Given the description of an element on the screen output the (x, y) to click on. 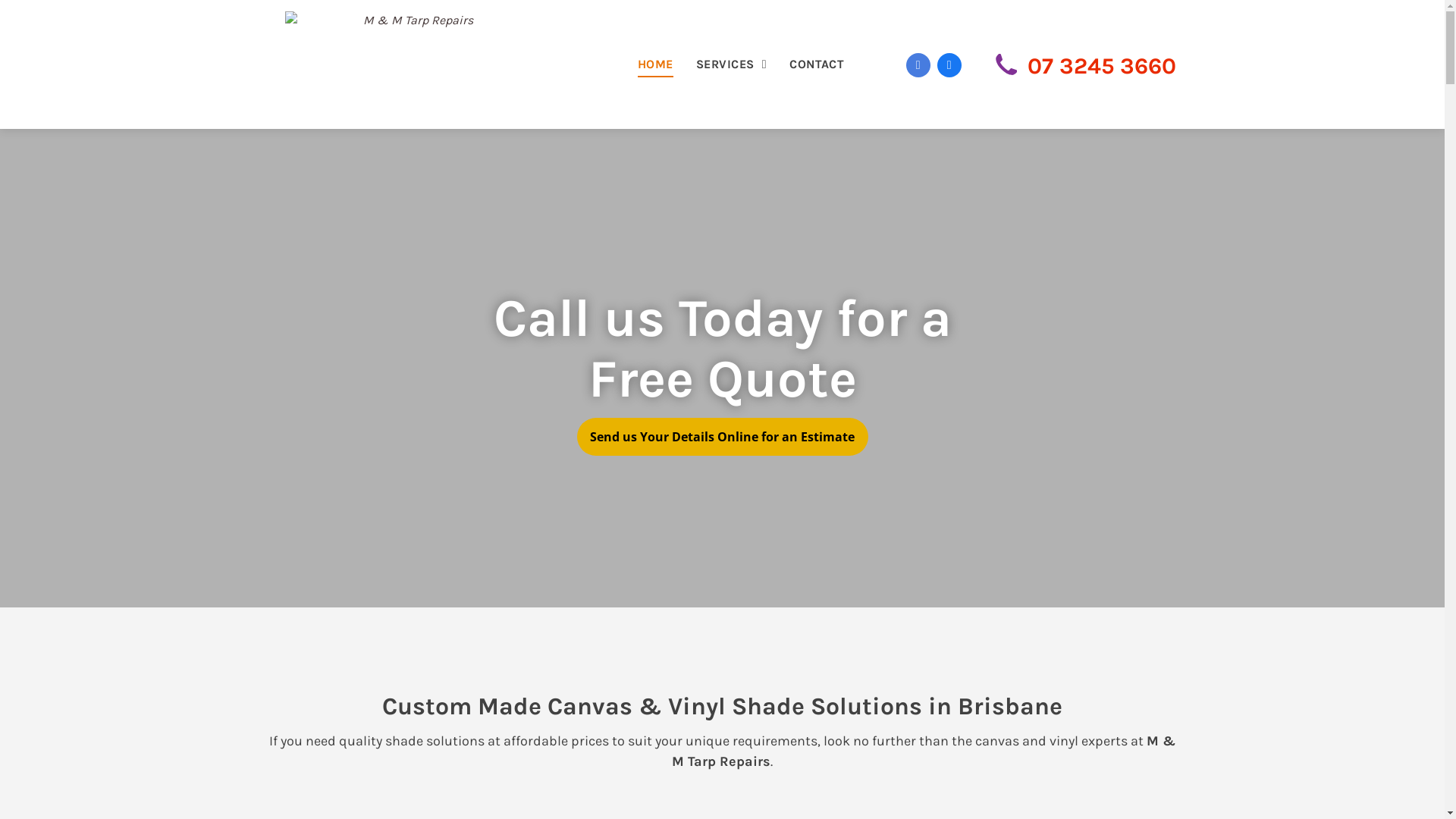
07 3245 3660 Element type: text (1101, 65)
M & M Tarp Repairs Element type: hover (412, 64)
SERVICES Element type: text (731, 64)
HOME Element type: text (655, 64)
Send us Your Details Online for an Estimate Element type: text (721, 436)
CONTACT Element type: text (816, 64)
